Given the description of an element on the screen output the (x, y) to click on. 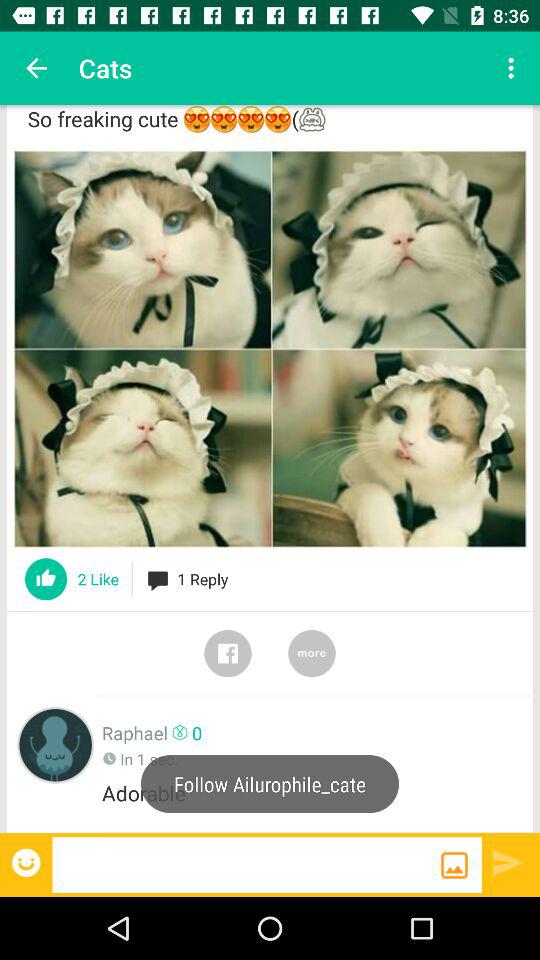
select the icon to the right of cats item (513, 67)
